Given the description of an element on the screen output the (x, y) to click on. 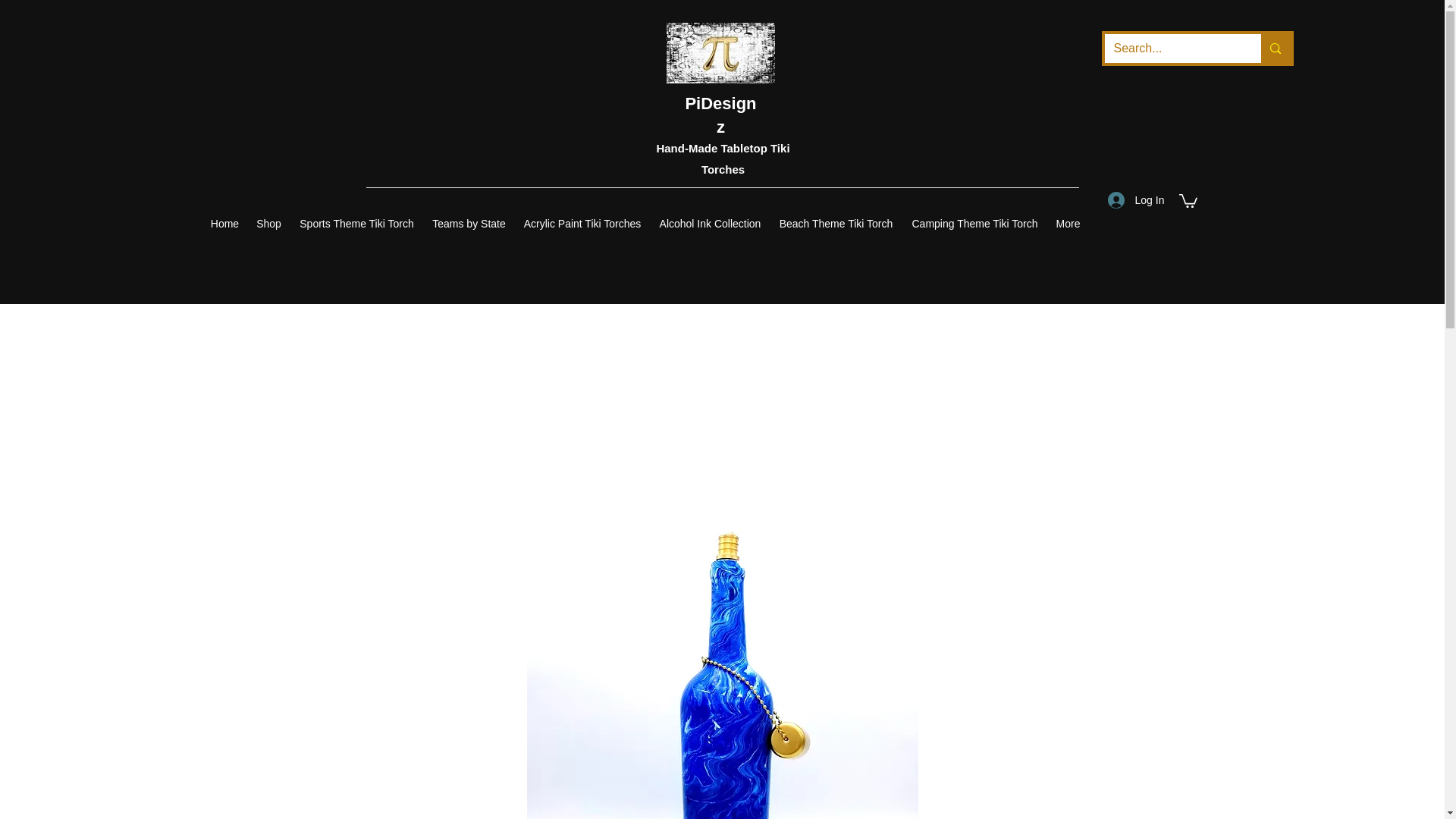
Camping Theme Tiki Torch (975, 223)
Acrylic Paint Tiki Torches (581, 223)
Teams by State (468, 223)
Alcohol Ink Collection (710, 223)
Beach Theme Tiki Torch (836, 223)
Sports Theme Tiki Torch (356, 223)
PiDesignz (719, 115)
